Given the description of an element on the screen output the (x, y) to click on. 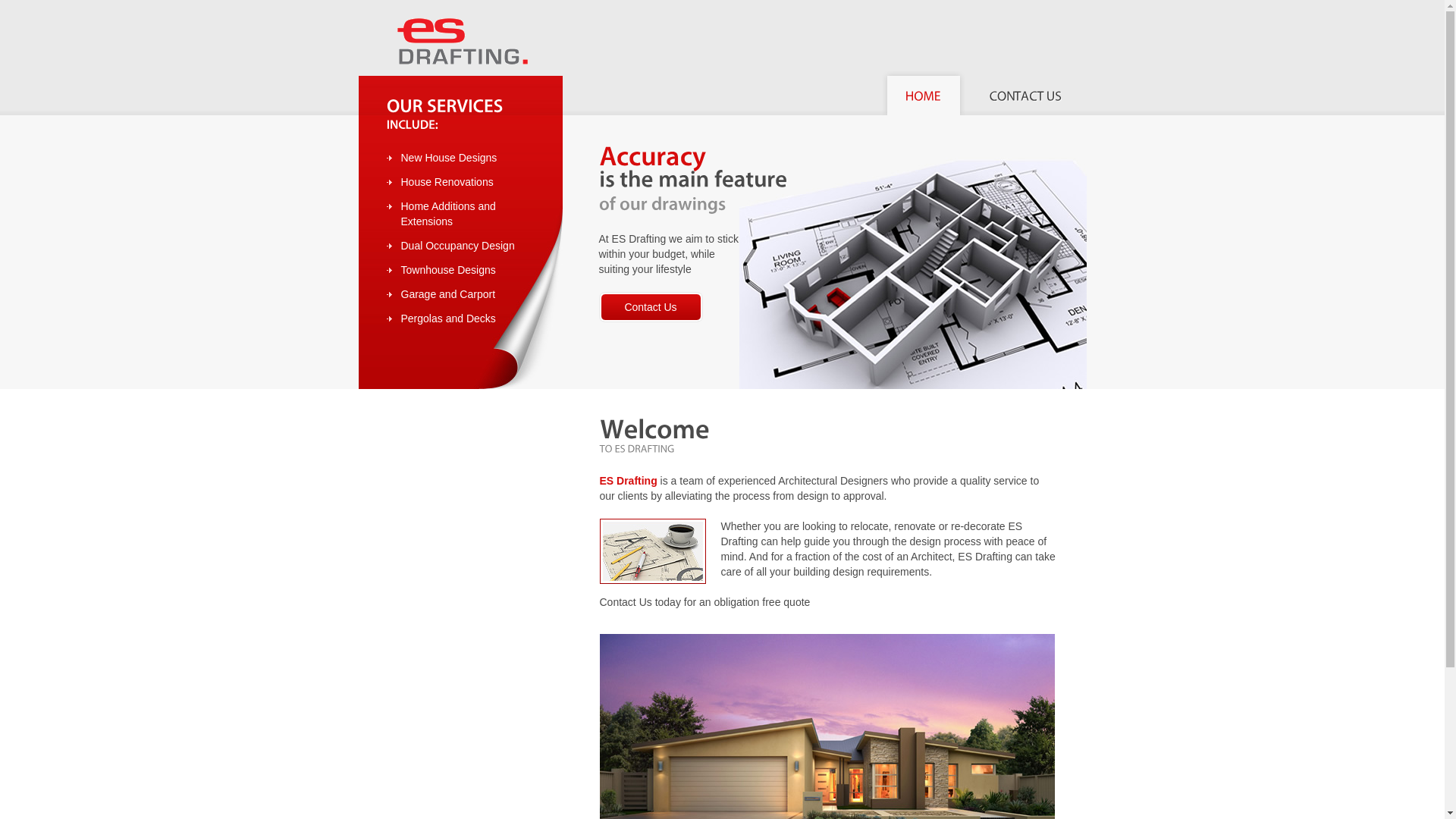
Contact Us Element type: text (650, 306)
